Given the description of an element on the screen output the (x, y) to click on. 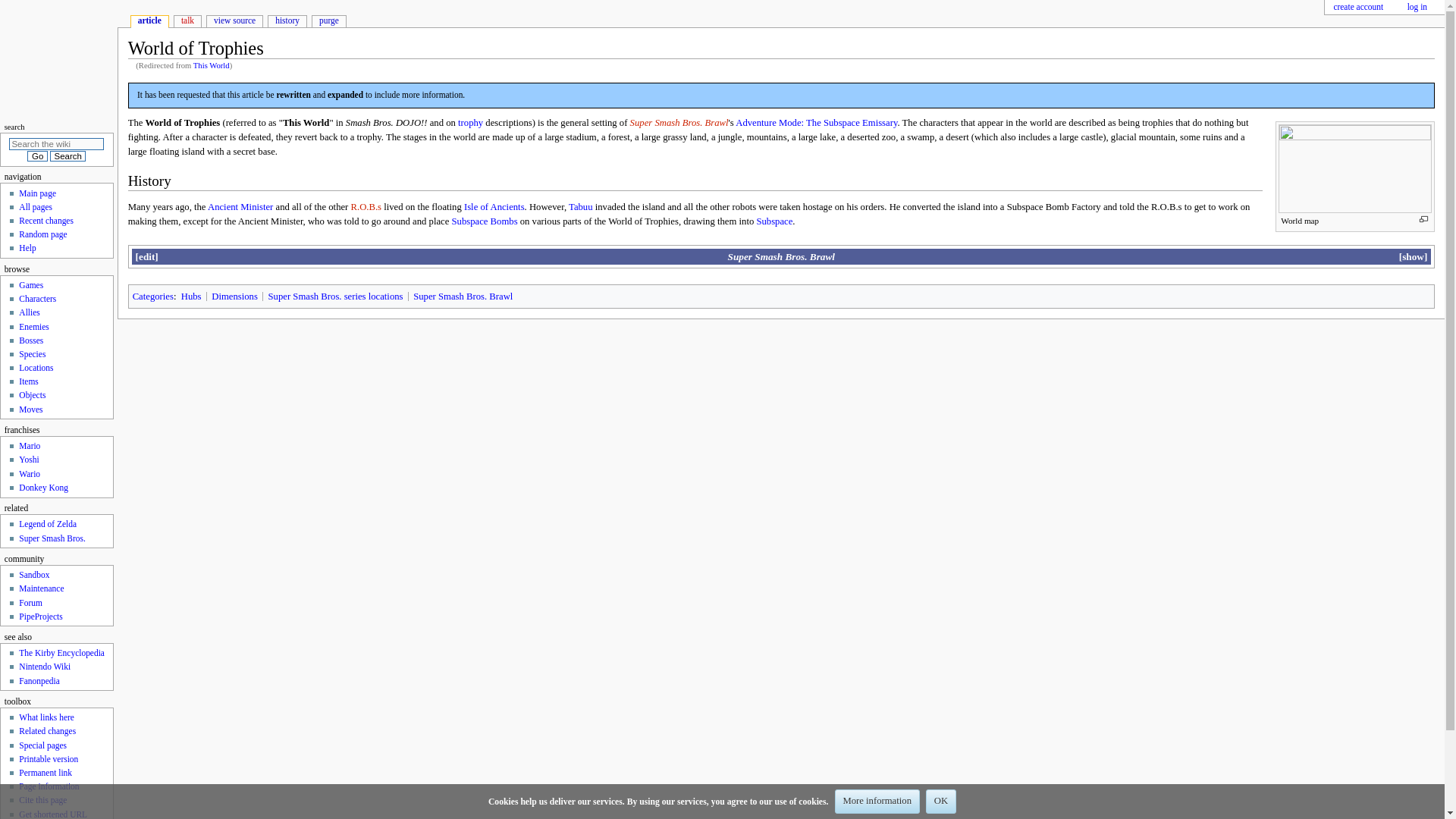
Search (67, 155)
Subspace Bombs (484, 221)
trophy (470, 122)
Tabuu (580, 206)
This World (211, 65)
This World (211, 65)
Subspace (773, 221)
edit (146, 256)
Adventure Mode: The Subspace Emissary (815, 122)
Adventure Mode: The Subspace Emissary (815, 122)
Subspace Bomb (484, 221)
Super Smash Bros. Brawl (781, 256)
Search (67, 155)
Tabuu (580, 206)
